Given the description of an element on the screen output the (x, y) to click on. 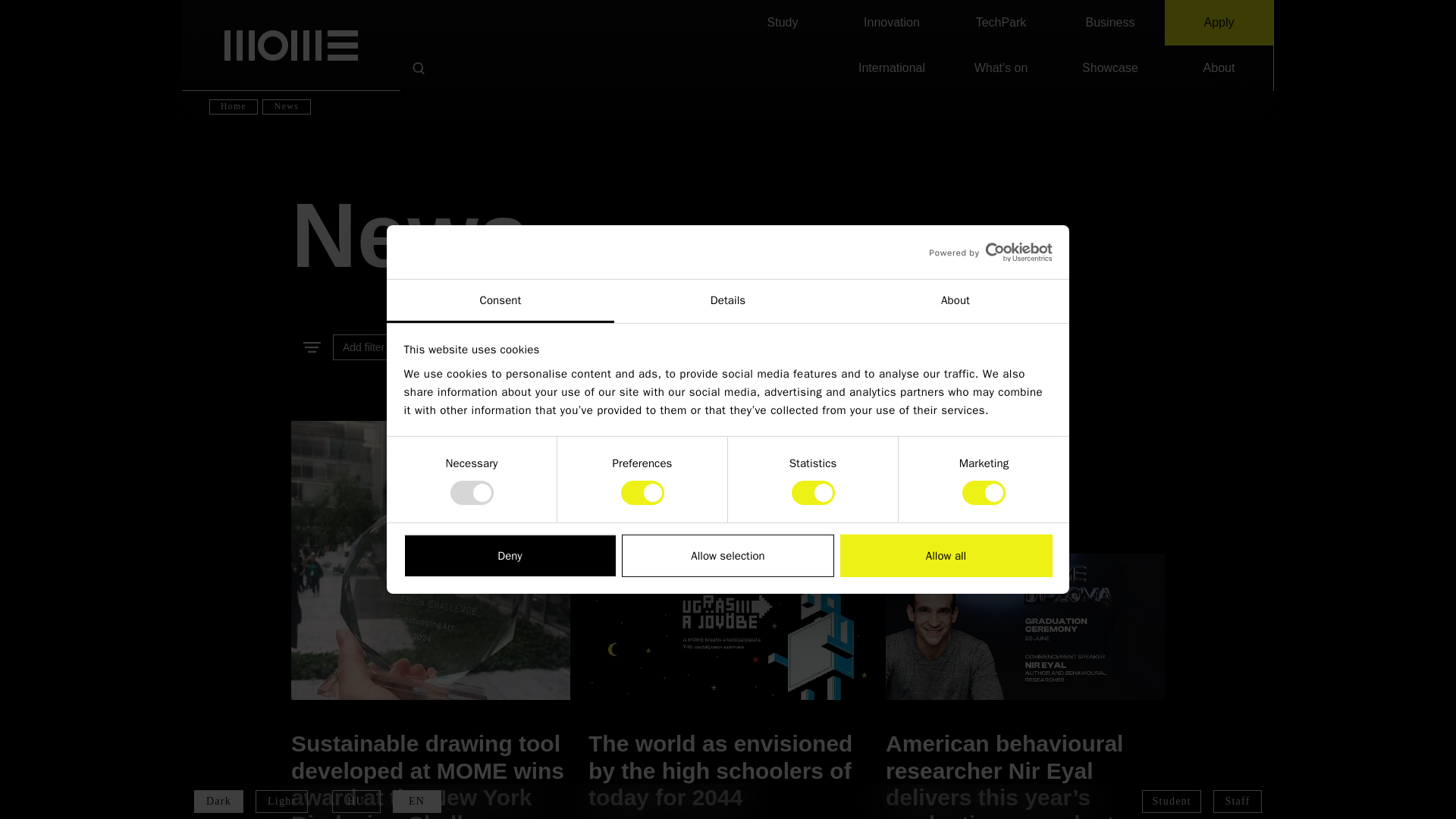
Consent (500, 301)
Details (727, 301)
News (727, 235)
About (954, 301)
